Given the description of an element on the screen output the (x, y) to click on. 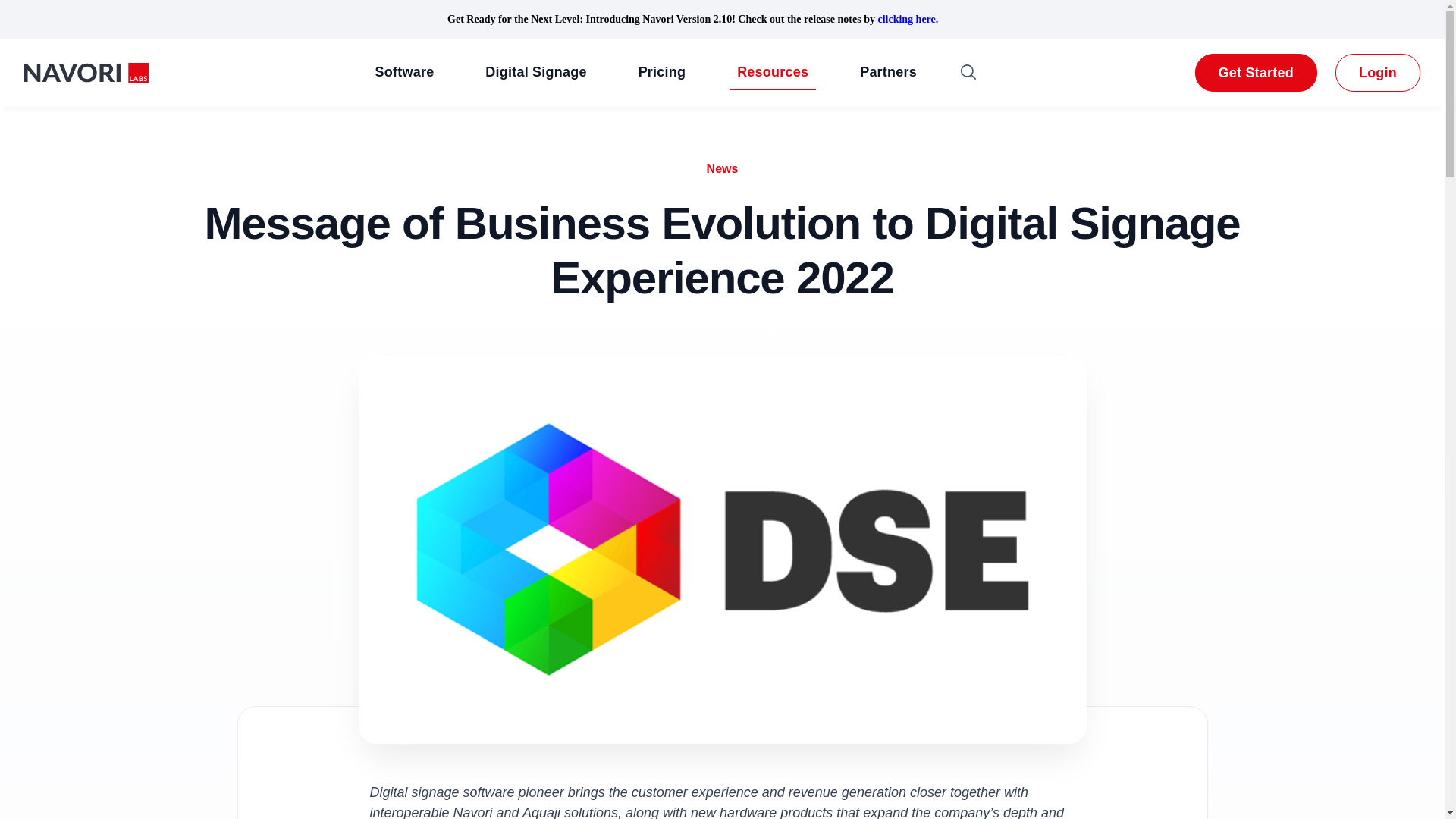
Resources (772, 72)
Login In (1377, 72)
Digital Signage (535, 72)
Software (405, 72)
Pricing (662, 72)
clicking here. (907, 19)
Get Started (1255, 72)
